Given the description of an element on the screen output the (x, y) to click on. 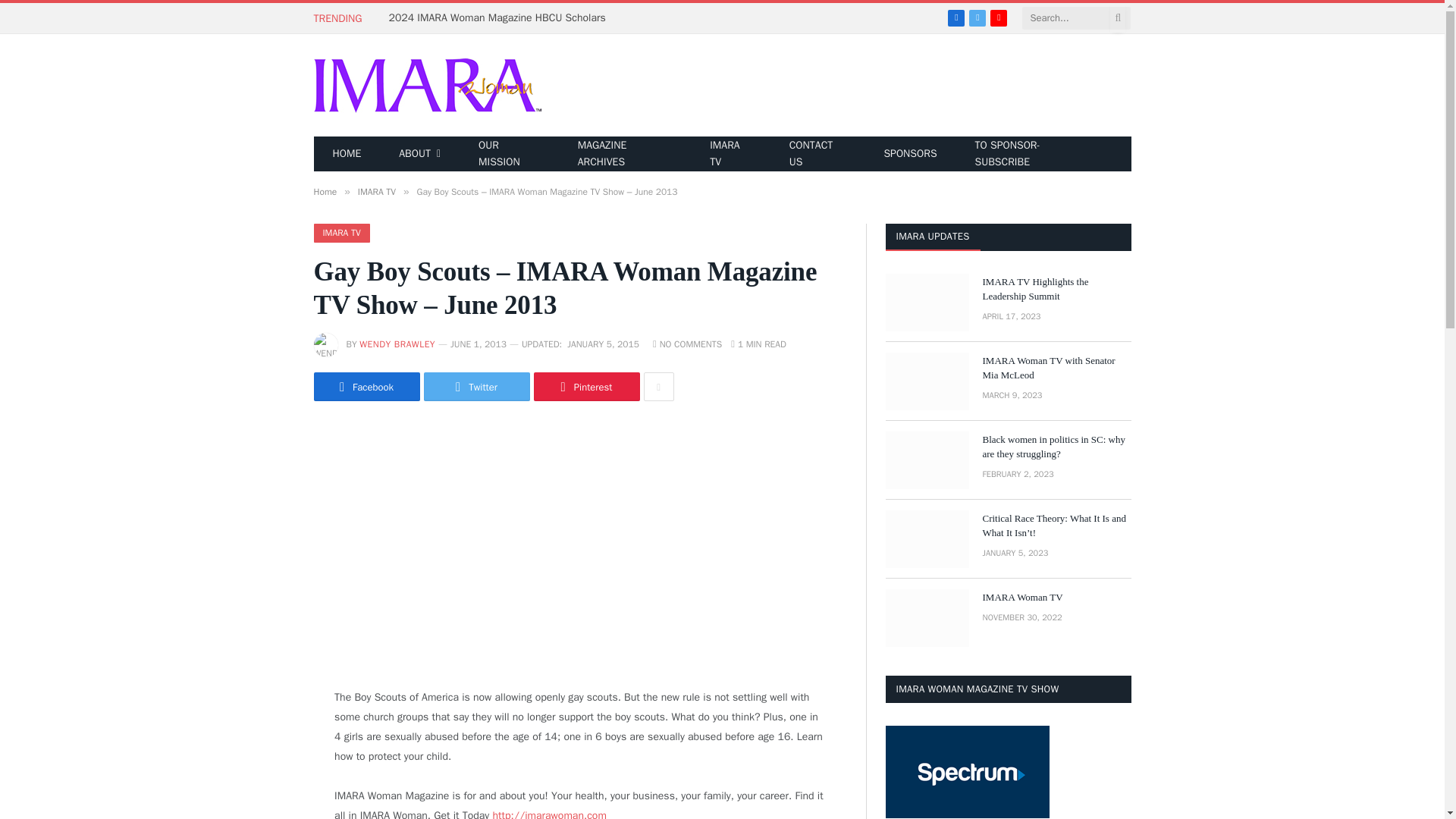
YouTube (998, 17)
SPONSORS (909, 153)
Show More Social Sharing (657, 386)
Share on Pinterest (587, 386)
MAGAZINE ARCHIVES (625, 153)
ABOUT (420, 153)
2024 IMARA Woman Magazine HBCU Scholars (500, 18)
Share on Facebook (367, 386)
HOME (347, 153)
Posts by Wendy Brawley (397, 344)
